Given the description of an element on the screen output the (x, y) to click on. 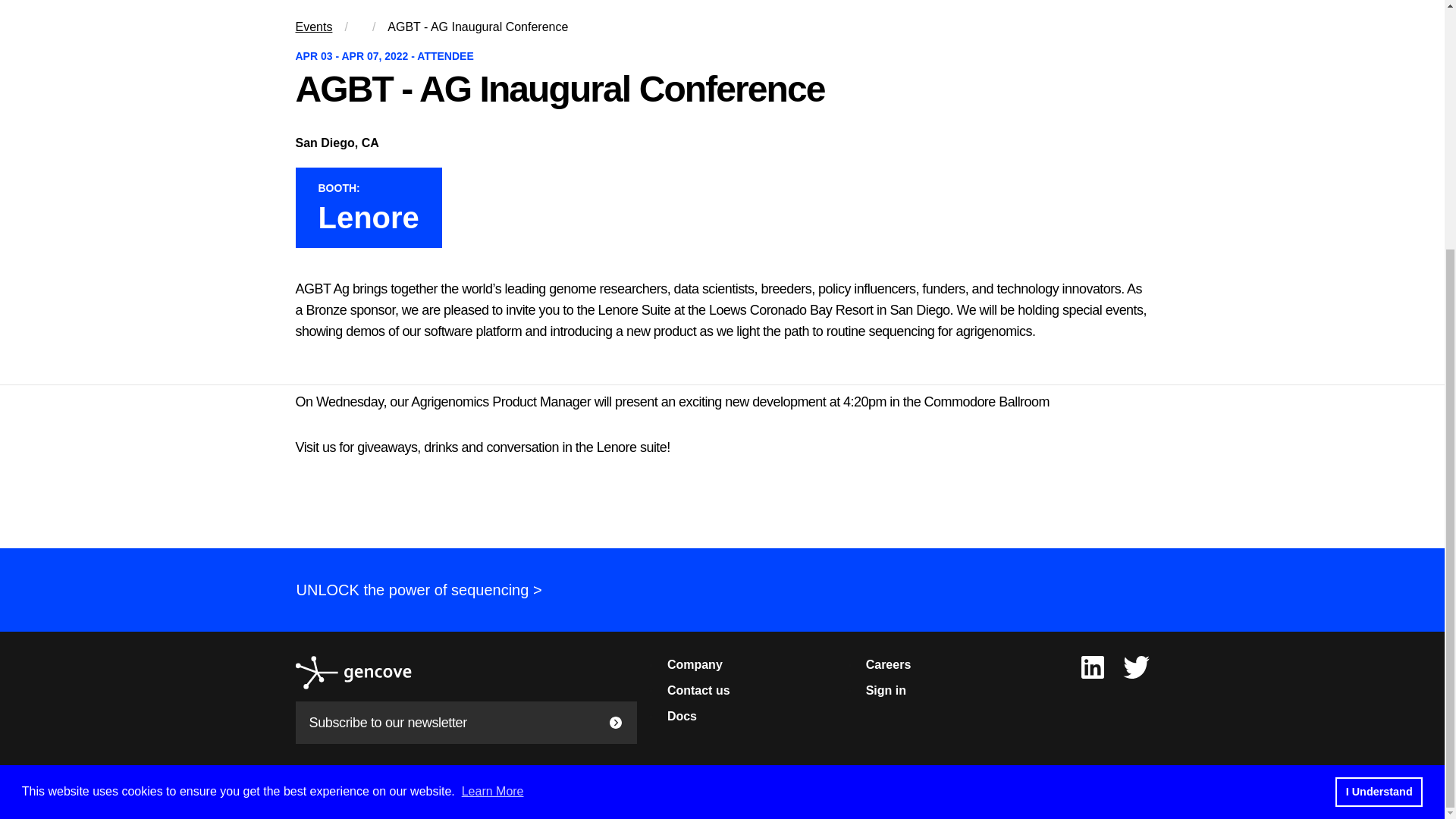
Docs (681, 716)
Events (314, 26)
Careers (888, 664)
Sign in (885, 689)
Learn More (492, 440)
Twitter (1136, 666)
Company (694, 664)
Contact us (698, 689)
Submit (615, 722)
I Understand (1378, 441)
LinkedIn (1092, 666)
Submit (615, 722)
Privacy Policy (478, 799)
